Given the description of an element on the screen output the (x, y) to click on. 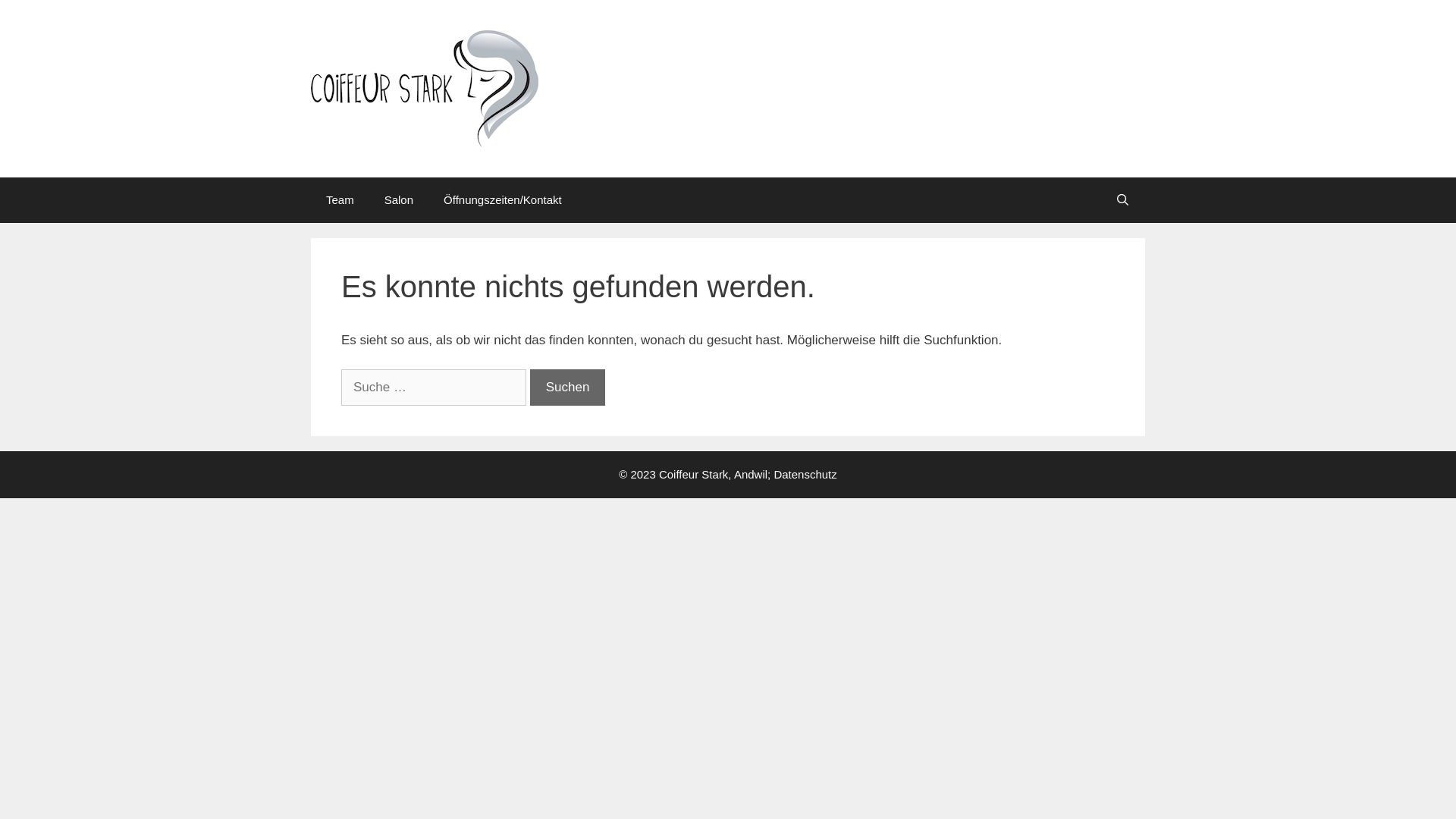
Salon Element type: text (398, 199)
Datenschutz Element type: text (804, 473)
Suchen Element type: text (567, 387)
Suche nach: Element type: hover (433, 387)
Team Element type: text (339, 199)
